Given the description of an element on the screen output the (x, y) to click on. 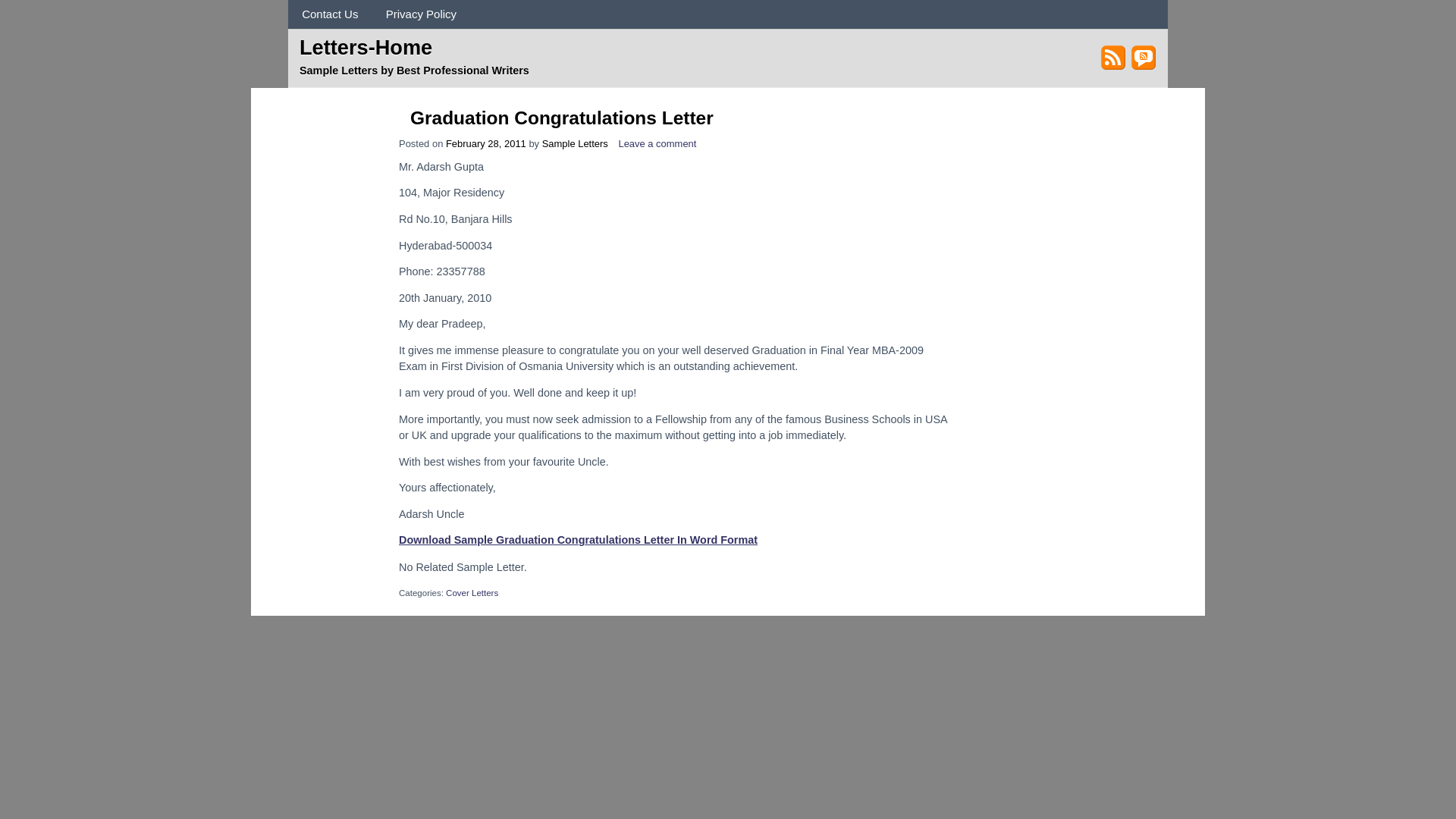
Graduation Congratulations Letter (561, 117)
Leave a comment (656, 143)
Cover Letters (471, 592)
Contact Us (330, 14)
Permalink to Graduation Congratulations Letter (561, 117)
Letters-Home (365, 46)
9:02 AM (485, 143)
View all posts by Sample Letters (574, 143)
Letters-Home (365, 46)
Sample Letters (574, 143)
